Given the description of an element on the screen output the (x, y) to click on. 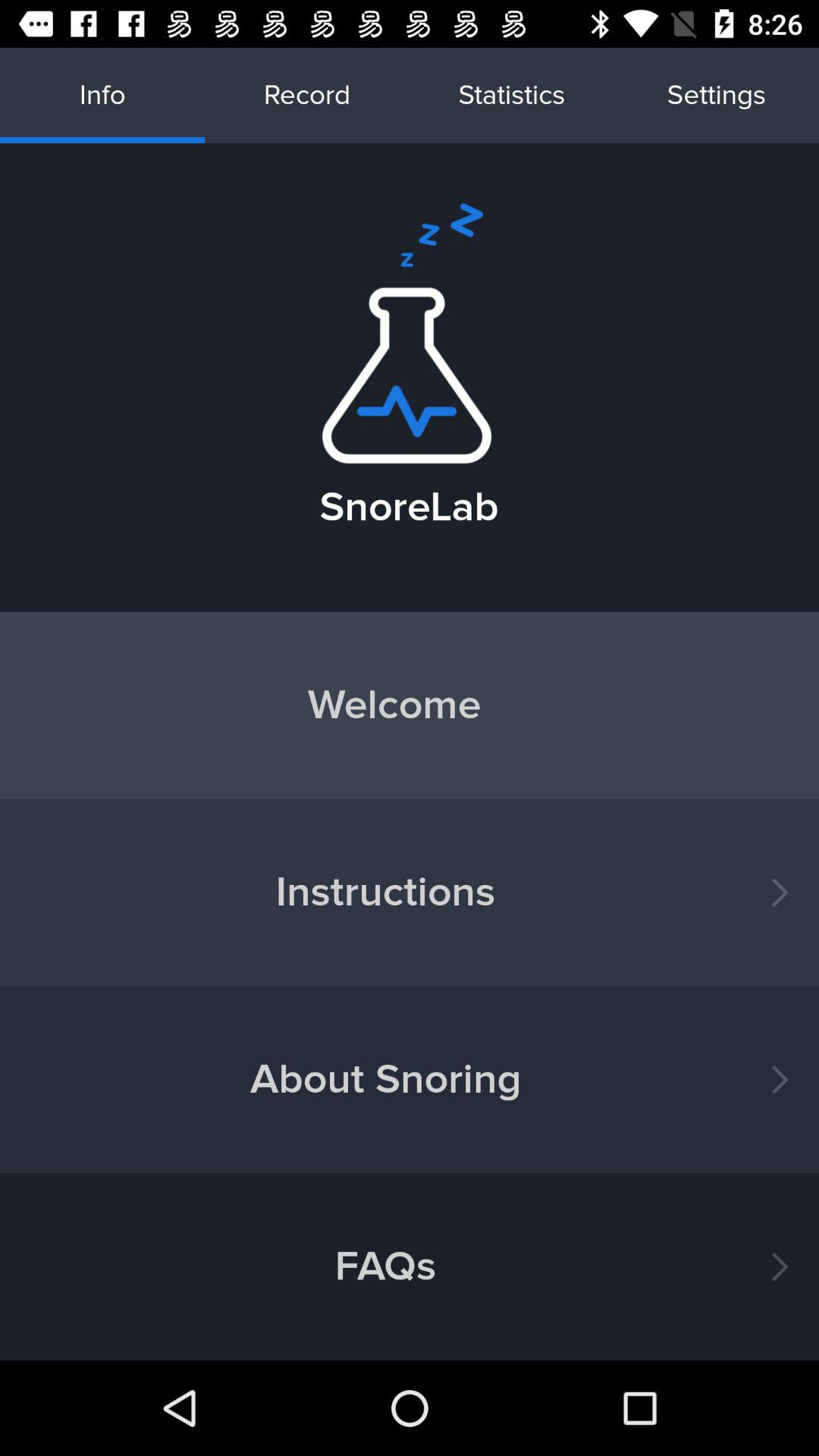
turn off the item above faqs (409, 1079)
